Given the description of an element on the screen output the (x, y) to click on. 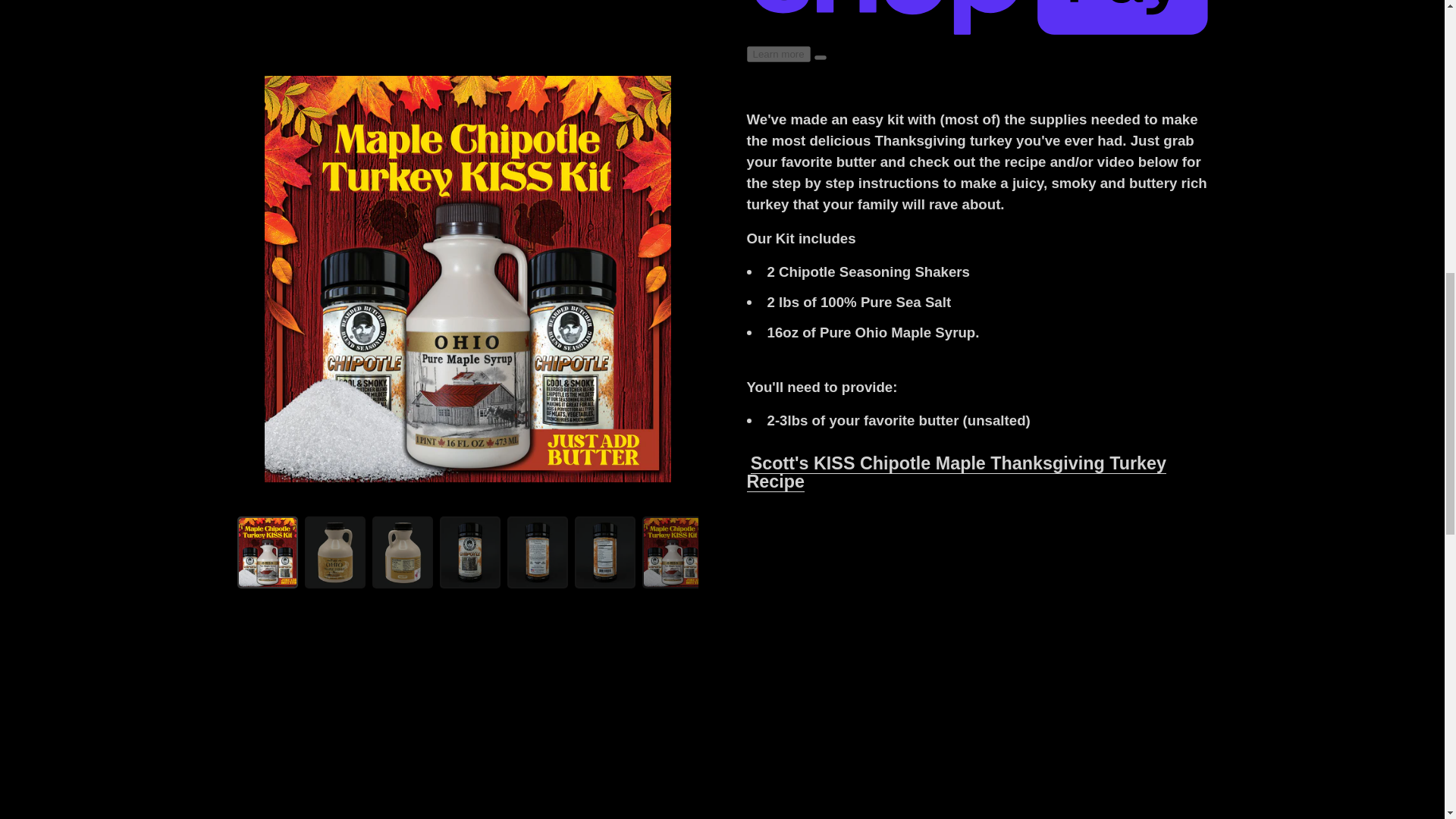
KISS Chipotle Maple Turkey Recipe (955, 472)
